Given the description of an element on the screen output the (x, y) to click on. 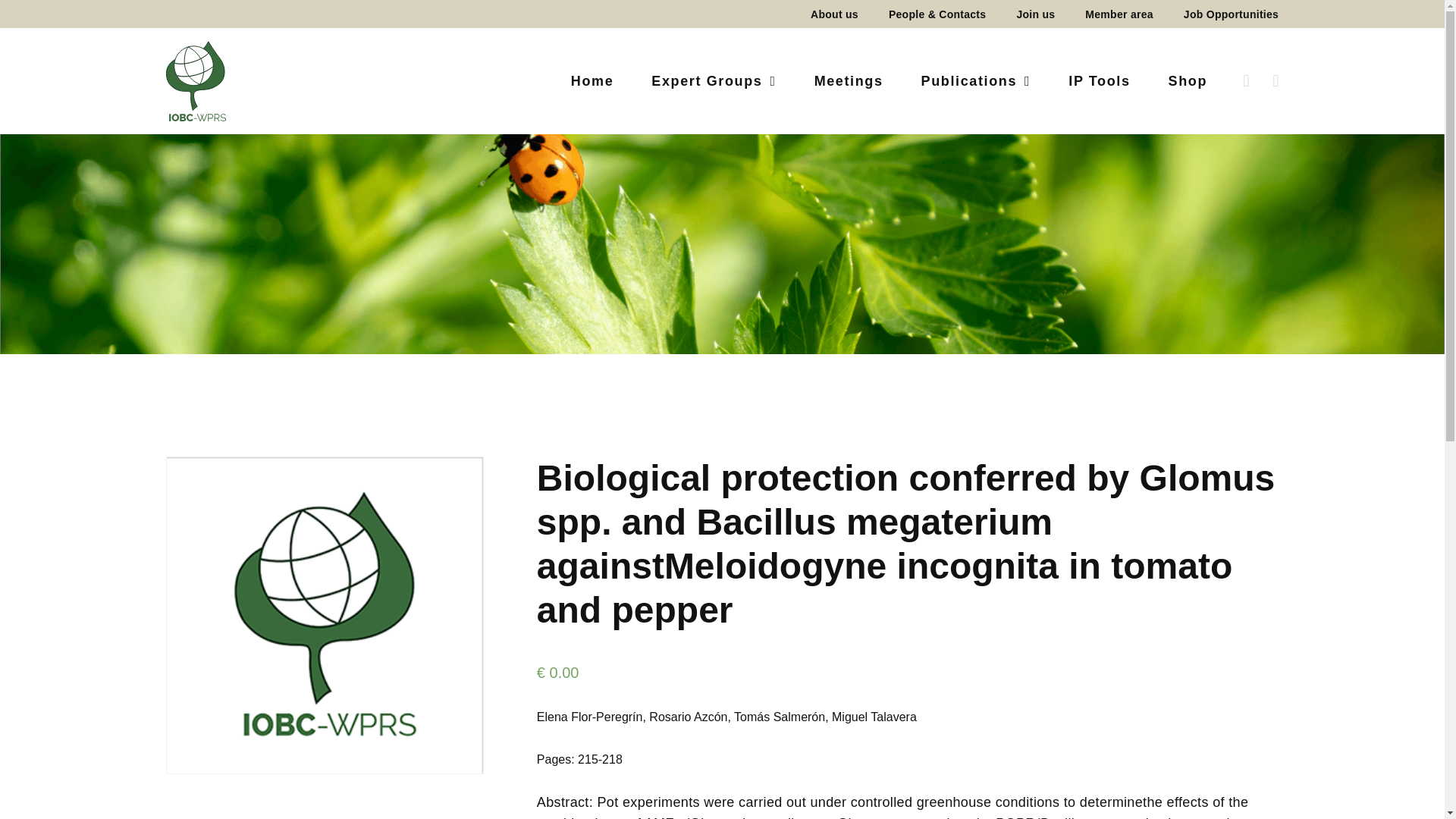
Shop (1178, 80)
IP Tools (1098, 80)
Publications (975, 80)
Meetings (848, 80)
Member area (1118, 14)
Join us (1035, 14)
Job Opportunities (1223, 14)
Home (592, 80)
Expert Groups (712, 80)
About us (833, 14)
